Given the description of an element on the screen output the (x, y) to click on. 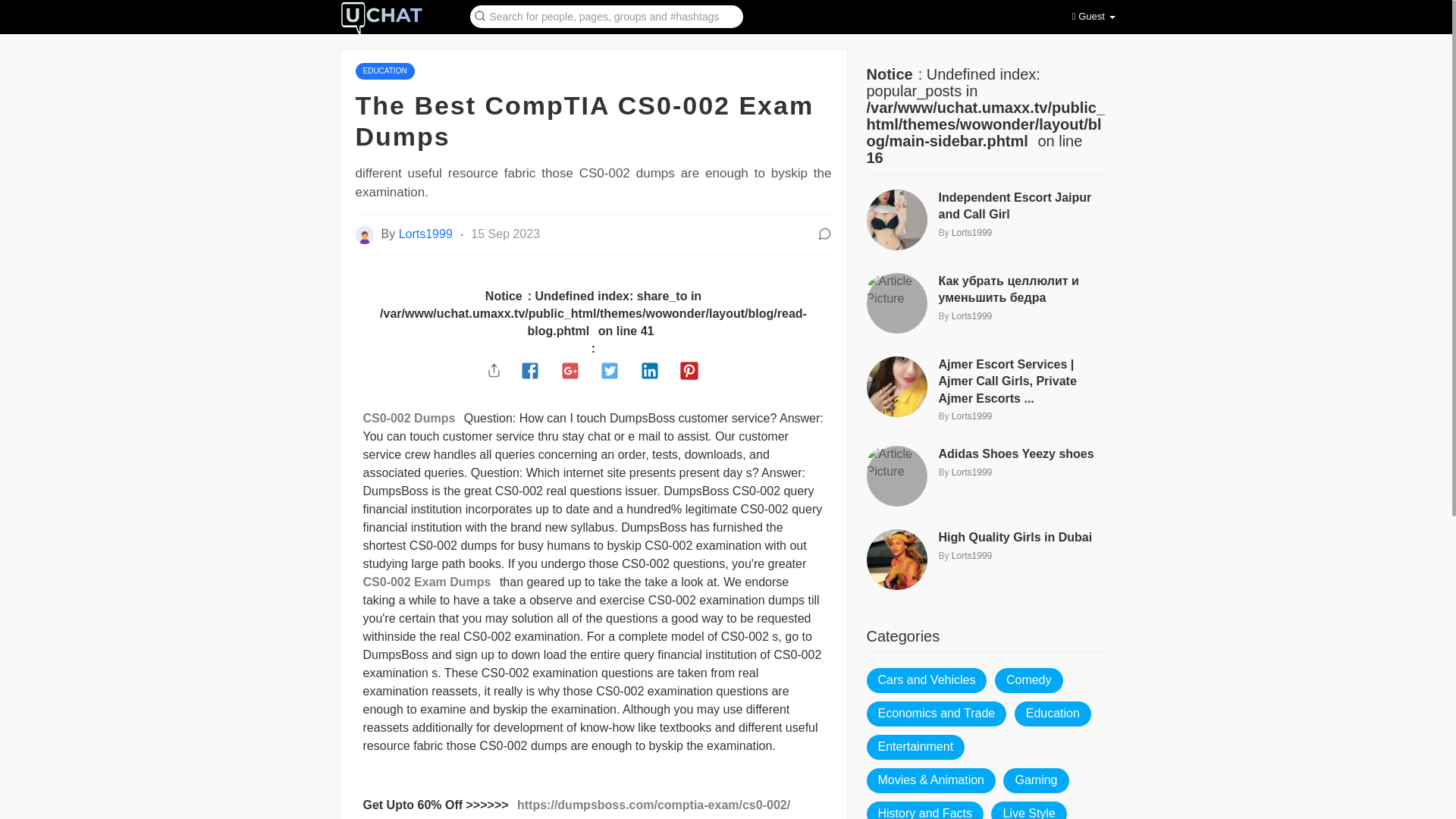
CS0-002 Dumps (411, 418)
Lorts1999 (971, 555)
Lorts1999 (971, 416)
Guest (1093, 17)
EDUCATION (384, 69)
Lorts1999 (971, 316)
Lorts1999 (971, 232)
Comedy (1028, 680)
Lorts1999 (427, 233)
Independent Escort Jaipur and Call Girl (1022, 206)
Economics and Trade (936, 713)
High Quality Girls in Dubai (1022, 537)
Cars and Vehicles (926, 680)
Adidas Shoes Yeezy shoes (1022, 453)
CS0-002 Exam Dumps (429, 581)
